Given the description of an element on the screen output the (x, y) to click on. 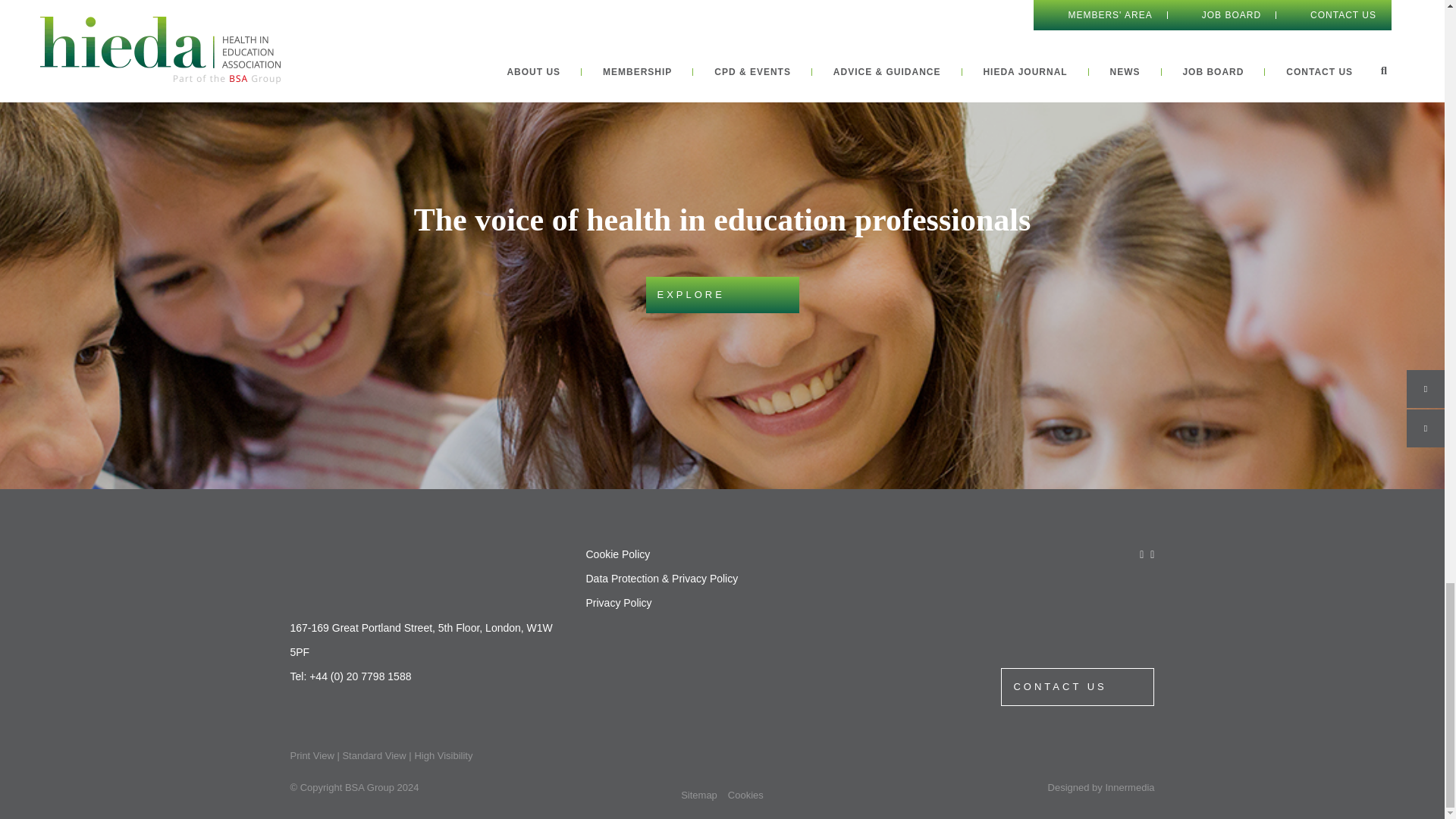
Switch to Standard Visibility (374, 755)
Switch to High Visibility (442, 755)
Switch to Print (311, 755)
